Given the description of an element on the screen output the (x, y) to click on. 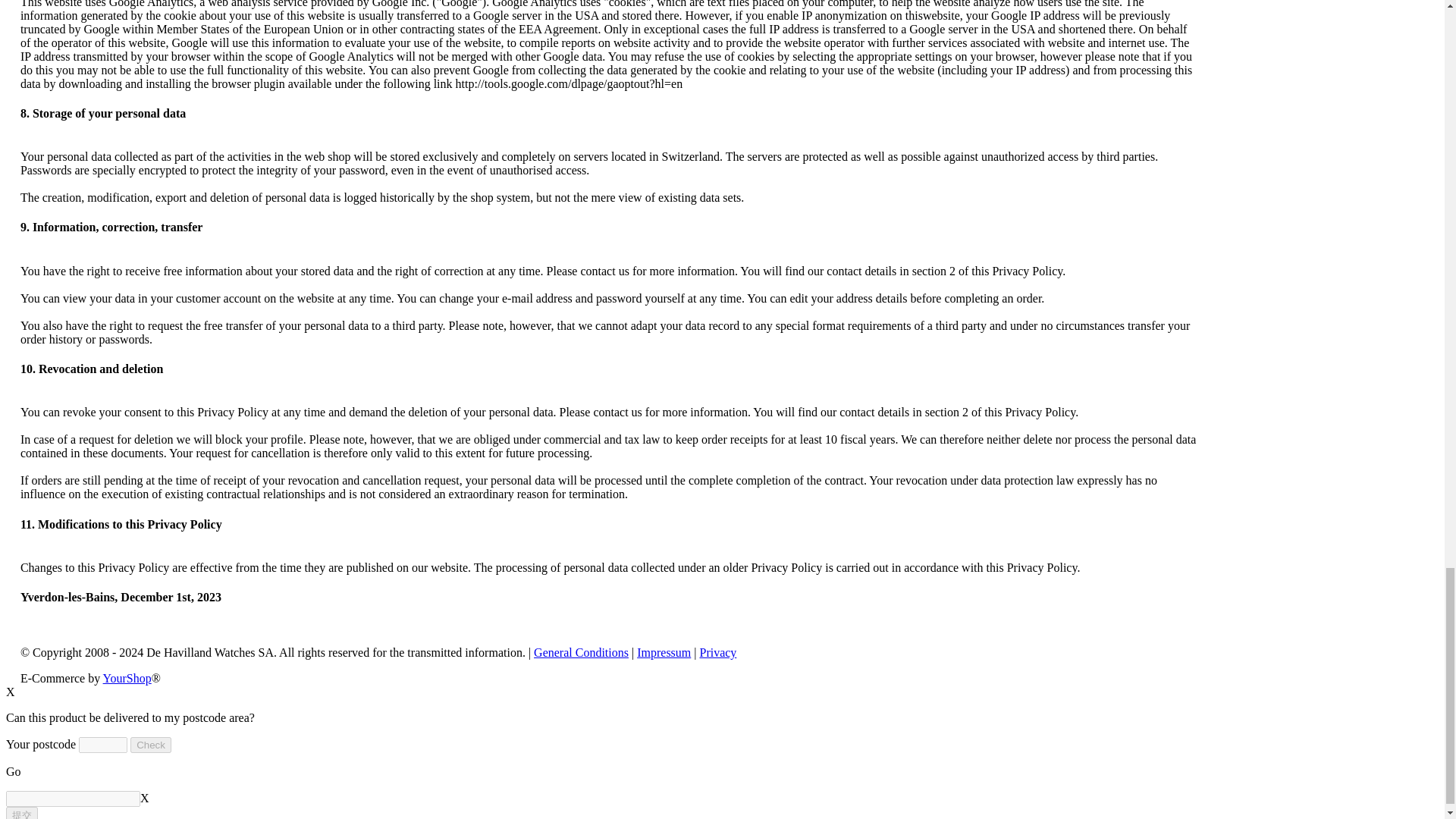
Check (151, 744)
Clear (144, 797)
X (9, 691)
General Conditions (581, 652)
Go (13, 771)
X (144, 797)
Check (151, 744)
Impressum (663, 652)
Privacy (717, 652)
YourShop (127, 677)
